Given the description of an element on the screen output the (x, y) to click on. 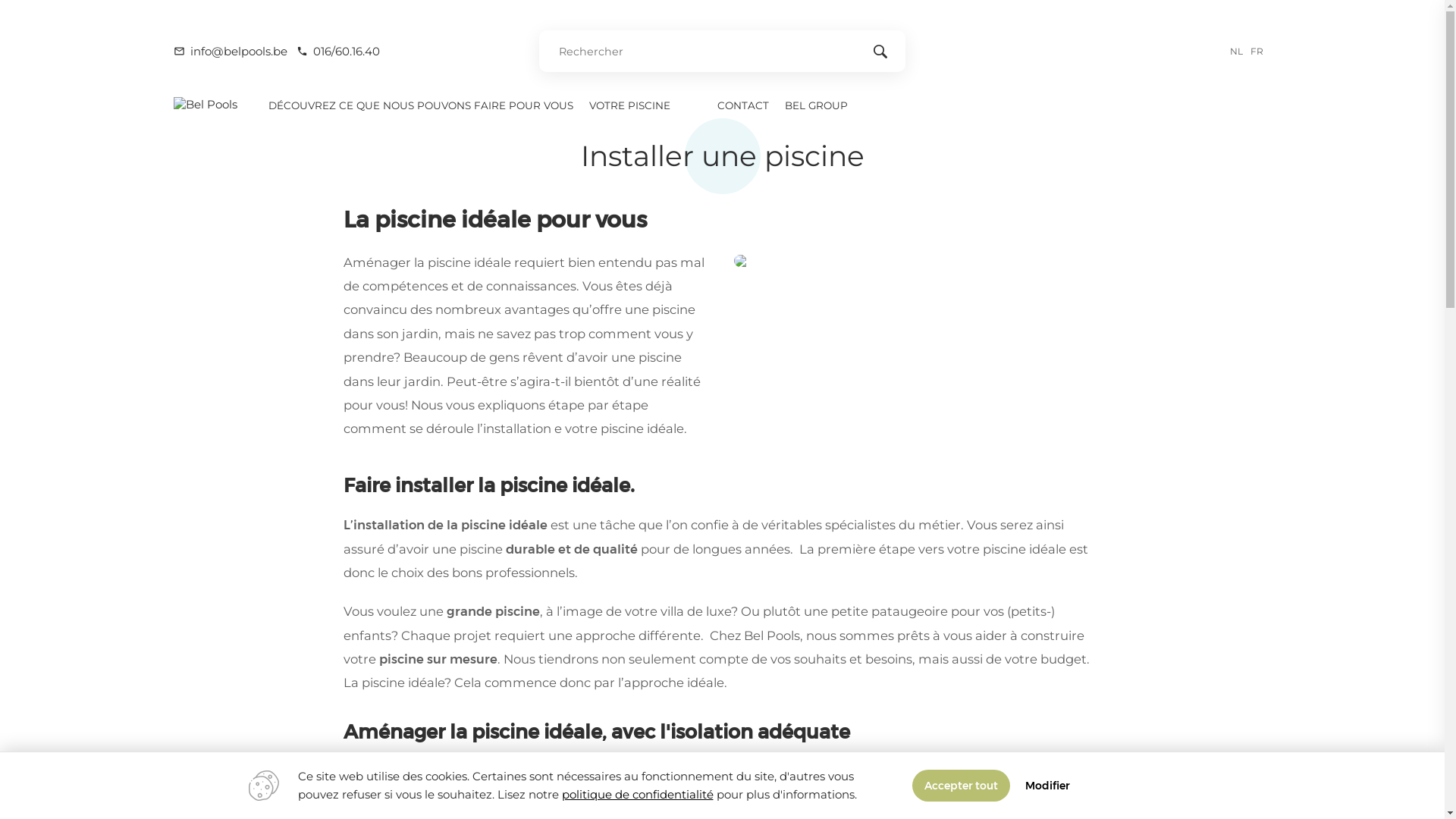
NL Element type: text (1239, 50)
phone
016/60.16.40 Element type: text (337, 51)
Bel Pools Element type: hover (205, 104)
FR Element type: text (1259, 50)
mail_outline
info@belpools.be Element type: text (230, 51)
CONTACT Element type: text (743, 105)
Accepter tout Element type: text (960, 785)
VOTRE PISCINE Element type: text (629, 105)
Modifier Element type: text (1047, 785)
BEL GROUP Element type: text (816, 105)
